Given the description of an element on the screen output the (x, y) to click on. 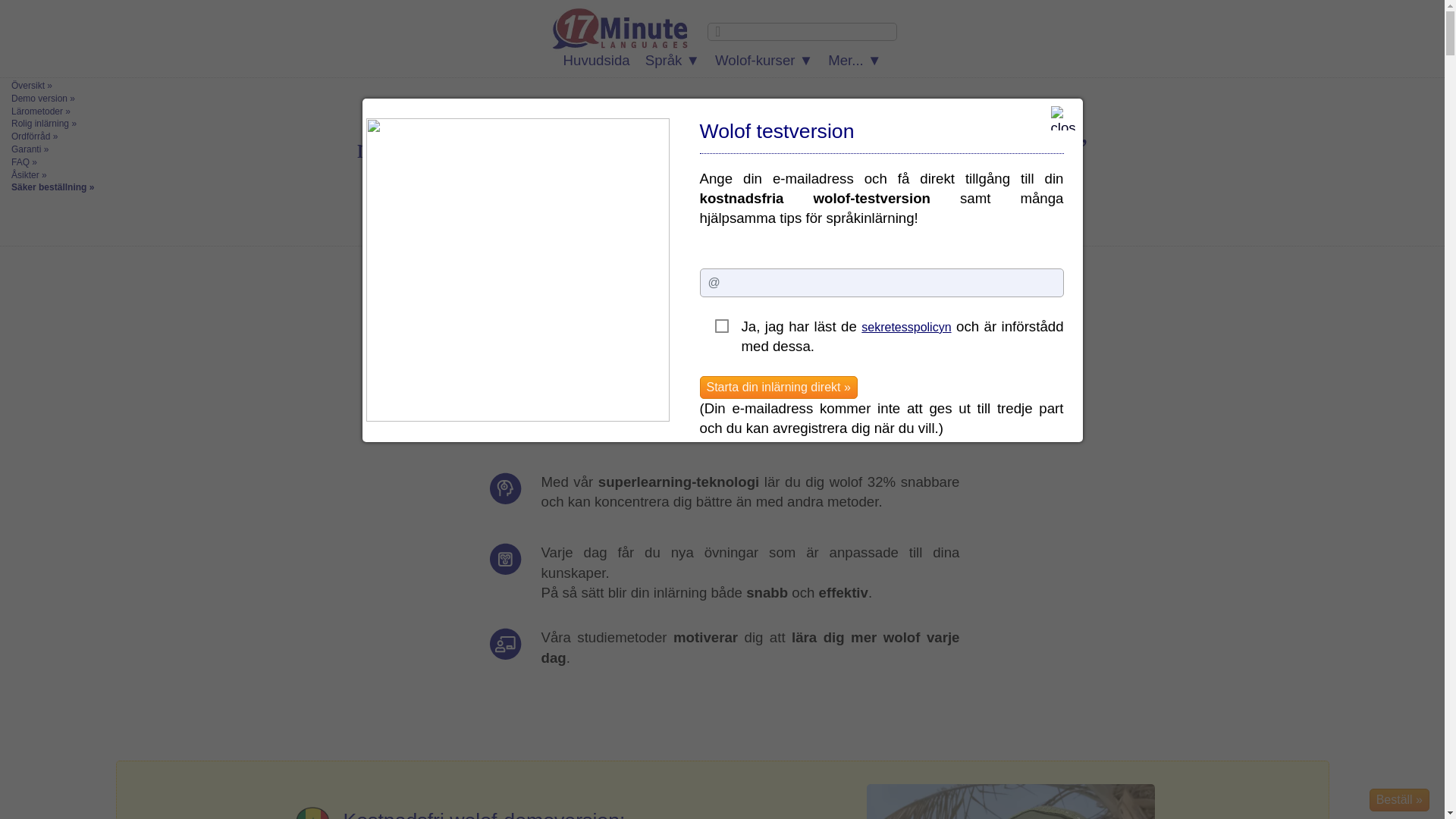
Wolof-kurser Element type: text (763, 60)
Huvudsida Element type: text (596, 60)
Mer... Element type: text (854, 60)
